Given the description of an element on the screen output the (x, y) to click on. 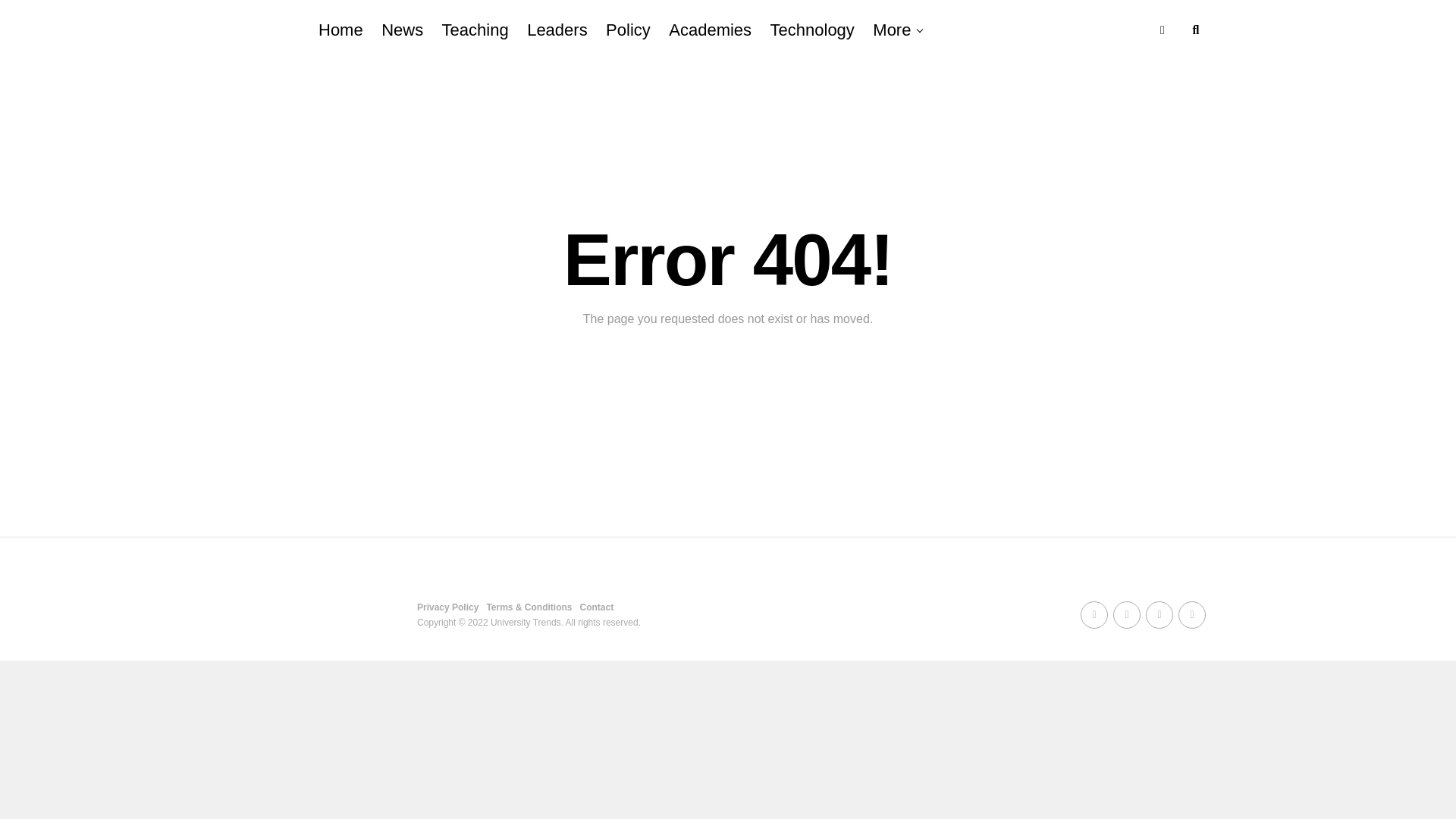
Leaders (557, 30)
Technology (811, 30)
Policy (628, 30)
News (402, 30)
Teaching (474, 30)
Academies (709, 30)
Contact (596, 606)
Privacy Policy (447, 606)
